Given the description of an element on the screen output the (x, y) to click on. 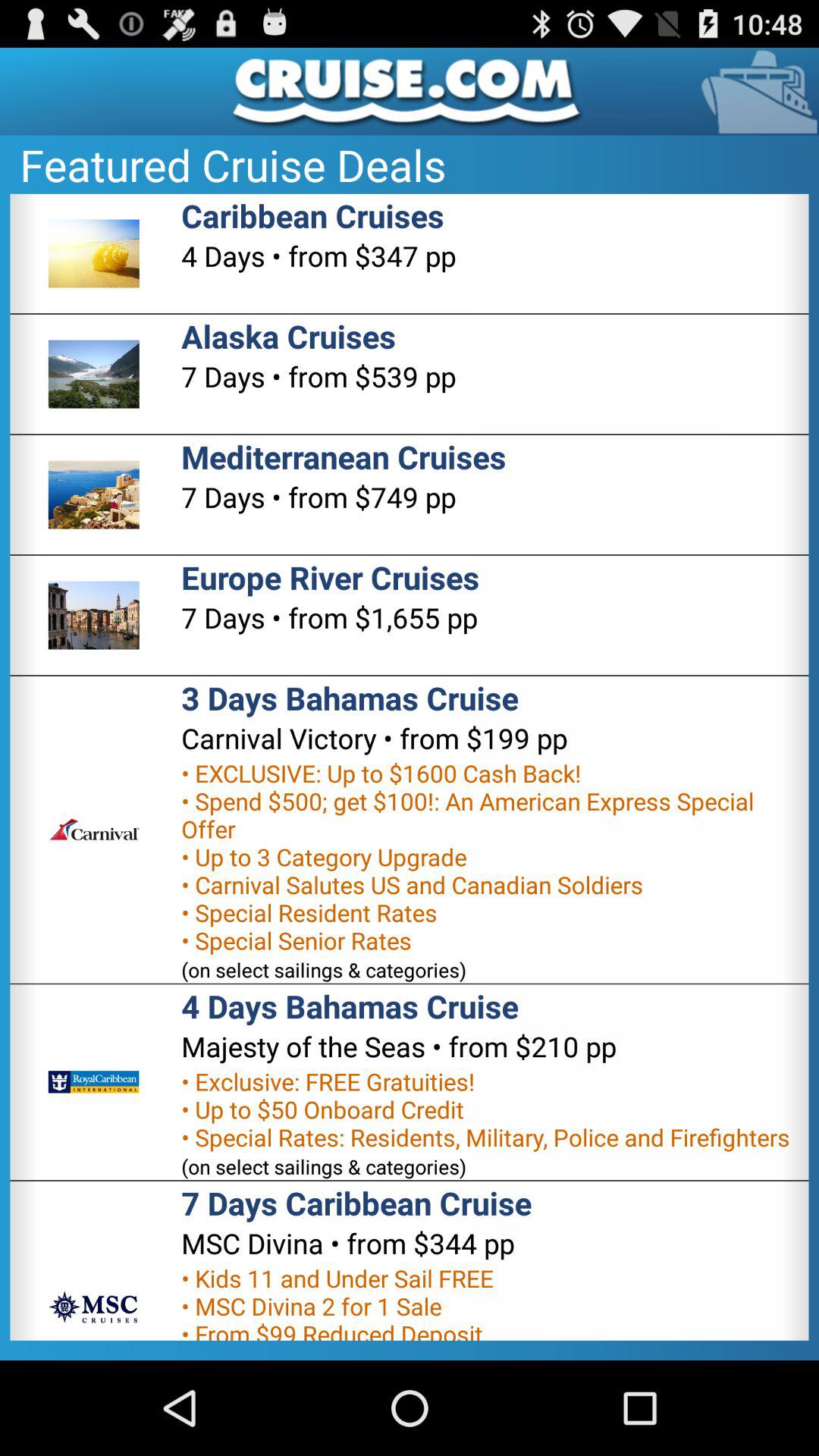
select europe river cruises (330, 576)
